Given the description of an element on the screen output the (x, y) to click on. 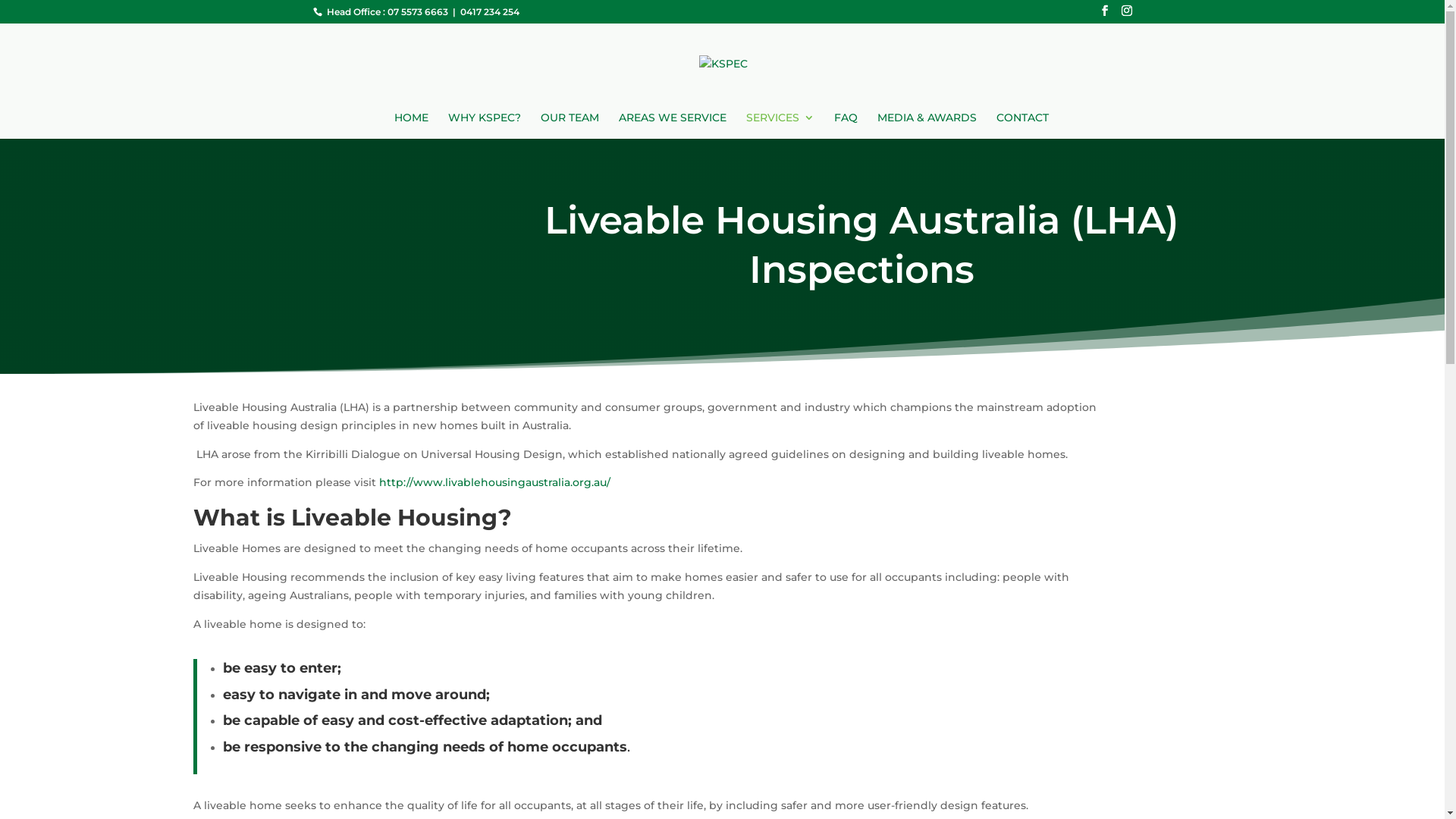
http://www.livablehousingaustralia.org.au/ Element type: text (494, 482)
HOME Element type: text (411, 125)
OUR TEAM Element type: text (569, 125)
AREAS WE SERVICE Element type: text (672, 125)
MEDIA & AWARDS Element type: text (926, 125)
07 5573 6663  Element type: text (417, 11)
FAQ Element type: text (845, 125)
 0417 234 254 Element type: text (488, 11)
SERVICES Element type: text (780, 125)
CONTACT Element type: text (1022, 125)
WHY KSPEC? Element type: text (484, 125)
